Given the description of an element on the screen output the (x, y) to click on. 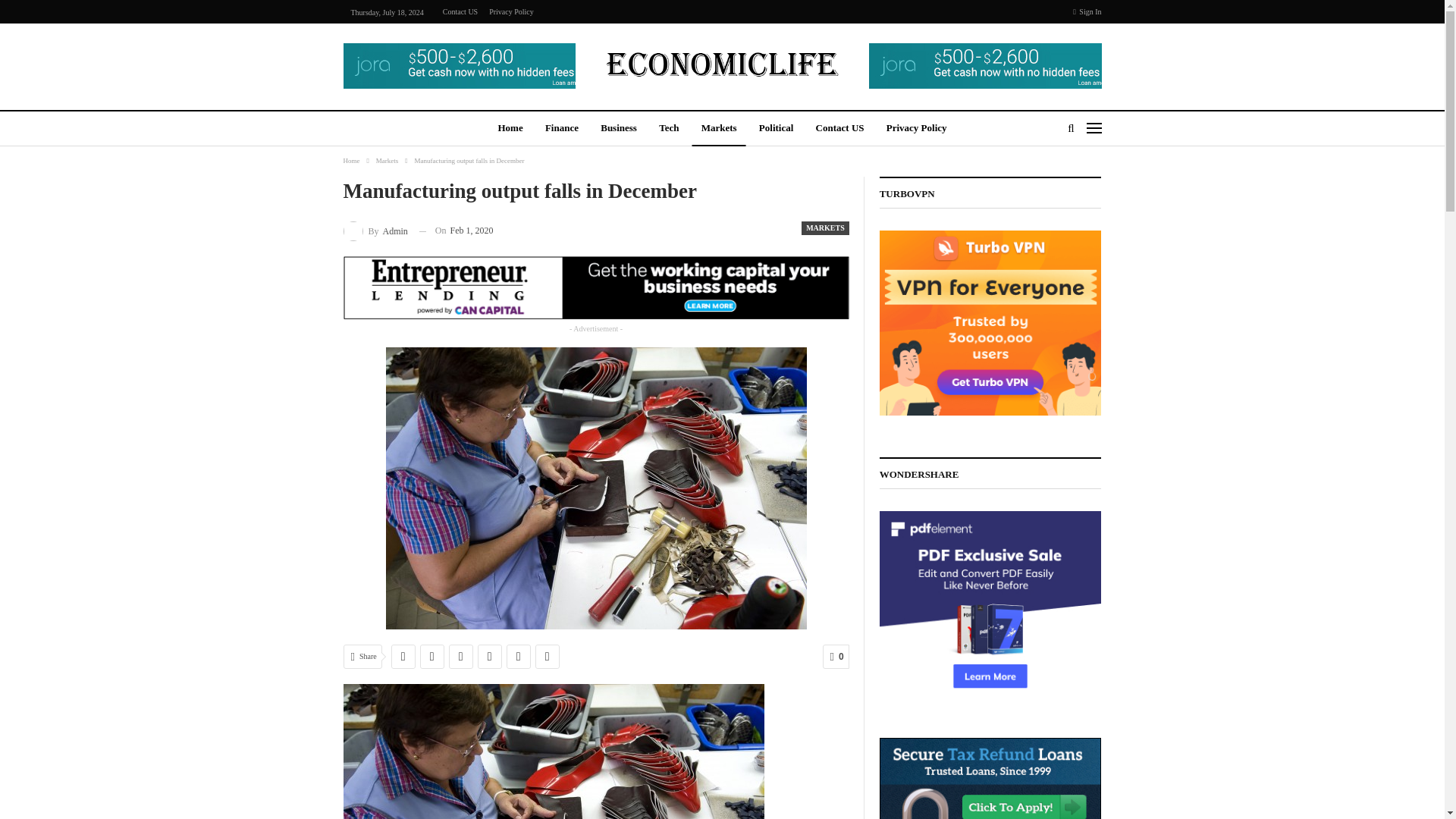
Home (509, 129)
Home (350, 160)
0 (835, 656)
Finance (561, 129)
Markets (386, 160)
Business (618, 129)
Contact US (839, 129)
Sign In (1086, 11)
Privacy Policy (511, 11)
Tech (668, 129)
Markets (719, 129)
Political (776, 129)
Privacy Policy (916, 129)
Contact US (459, 11)
MARKETS (825, 228)
